Given the description of an element on the screen output the (x, y) to click on. 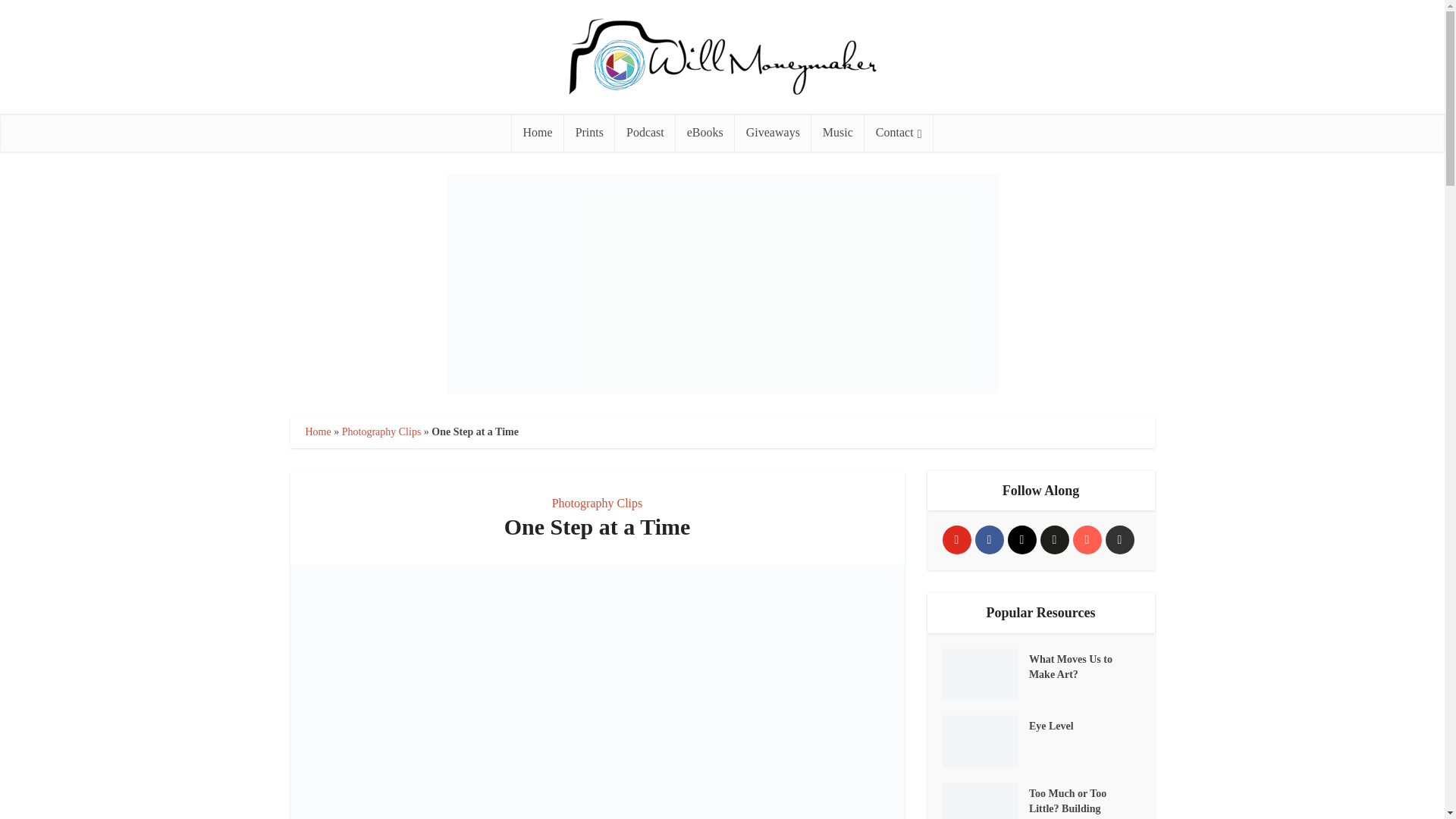
Music (837, 132)
Home (317, 431)
iTunes (1085, 539)
YouTube (956, 539)
Podcast (644, 132)
Contact (898, 132)
Photography Clips (382, 431)
Giveaways (772, 132)
Instagram (1021, 539)
flickr (1054, 539)
